Given the description of an element on the screen output the (x, y) to click on. 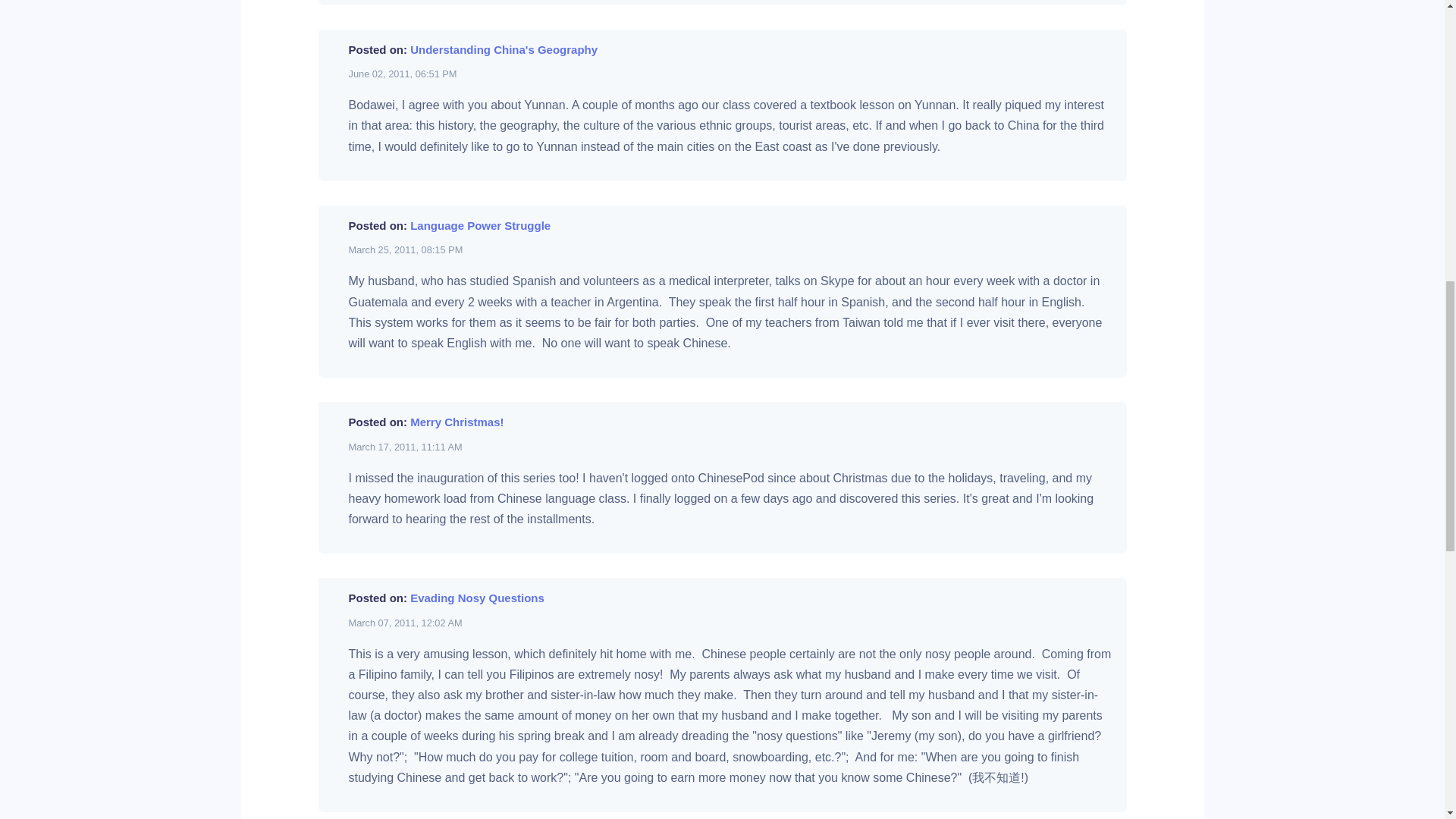
Evading Nosy Questions (477, 597)
Language Power Struggle (480, 225)
Merry Christmas! (456, 421)
Understanding China's Geography (503, 49)
